Given the description of an element on the screen output the (x, y) to click on. 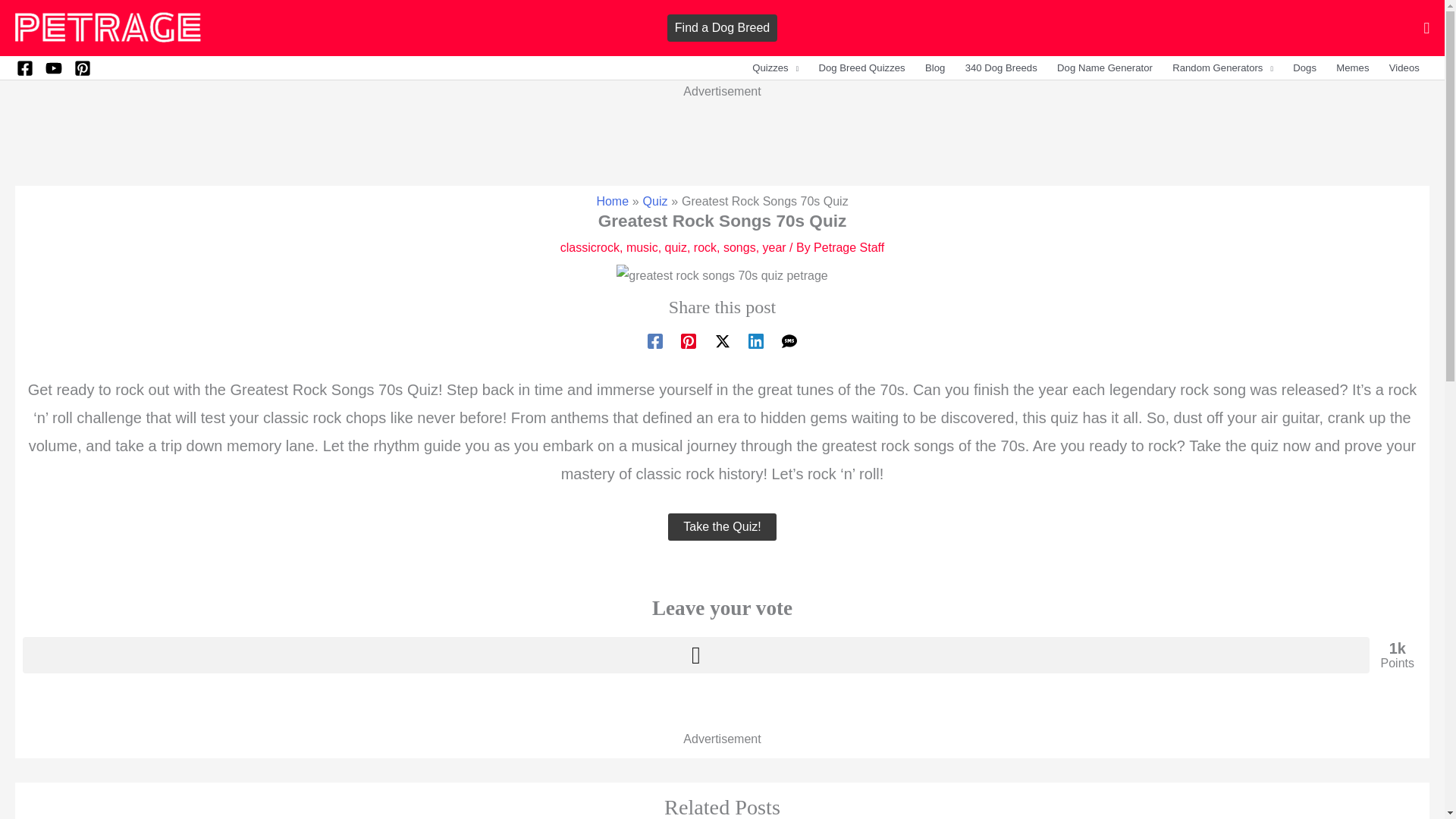
Find a Dog Breed (721, 27)
Upvote (696, 655)
View all posts by Petrage Staff (848, 246)
